Given the description of an element on the screen output the (x, y) to click on. 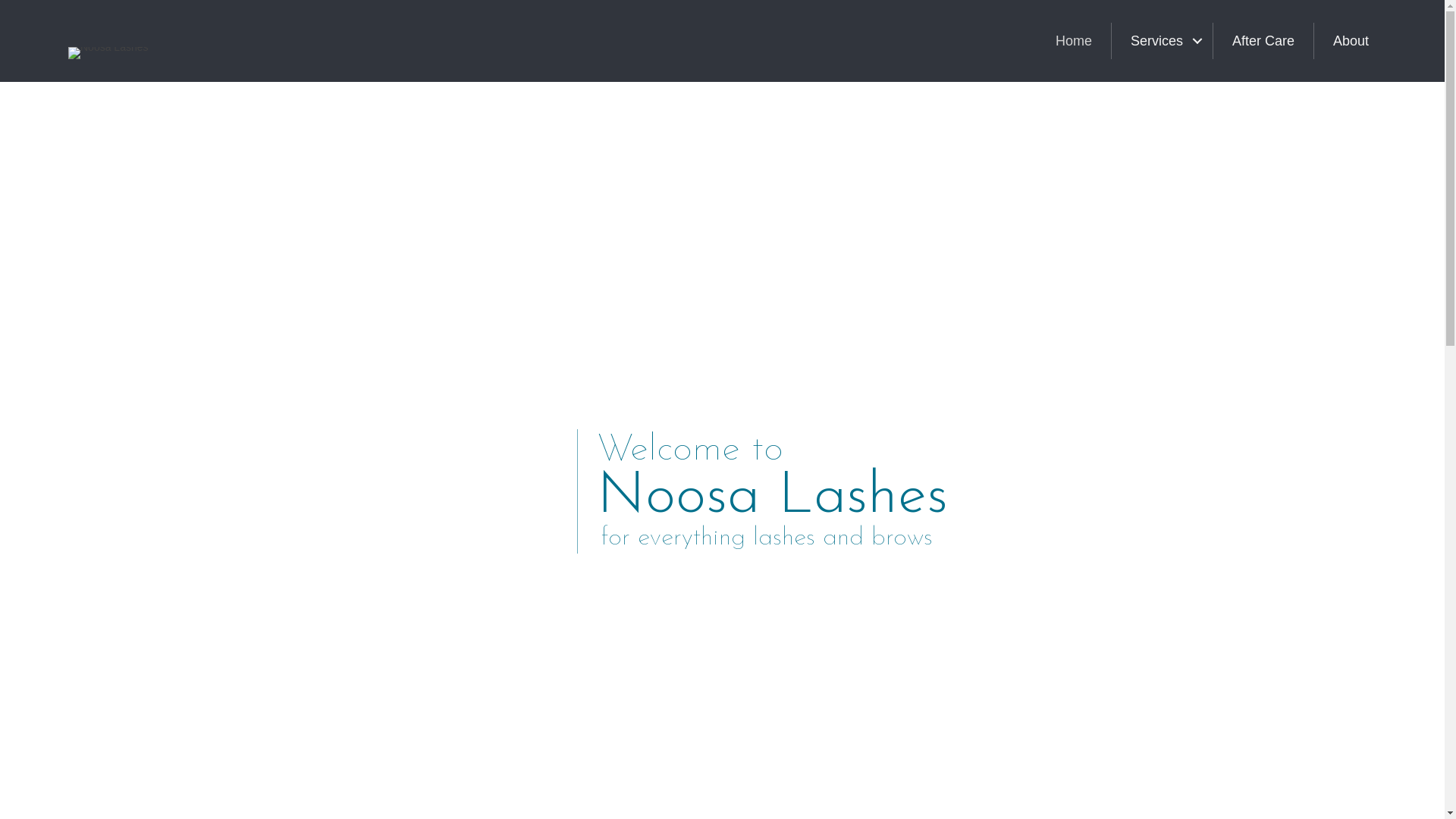
Services Element type: text (1161, 40)
Noosa-Lashes-Text-lge Element type: hover (108, 53)
After Care Element type: text (1263, 40)
Home Element type: text (1073, 40)
About Element type: text (1350, 40)
